Given the description of an element on the screen output the (x, y) to click on. 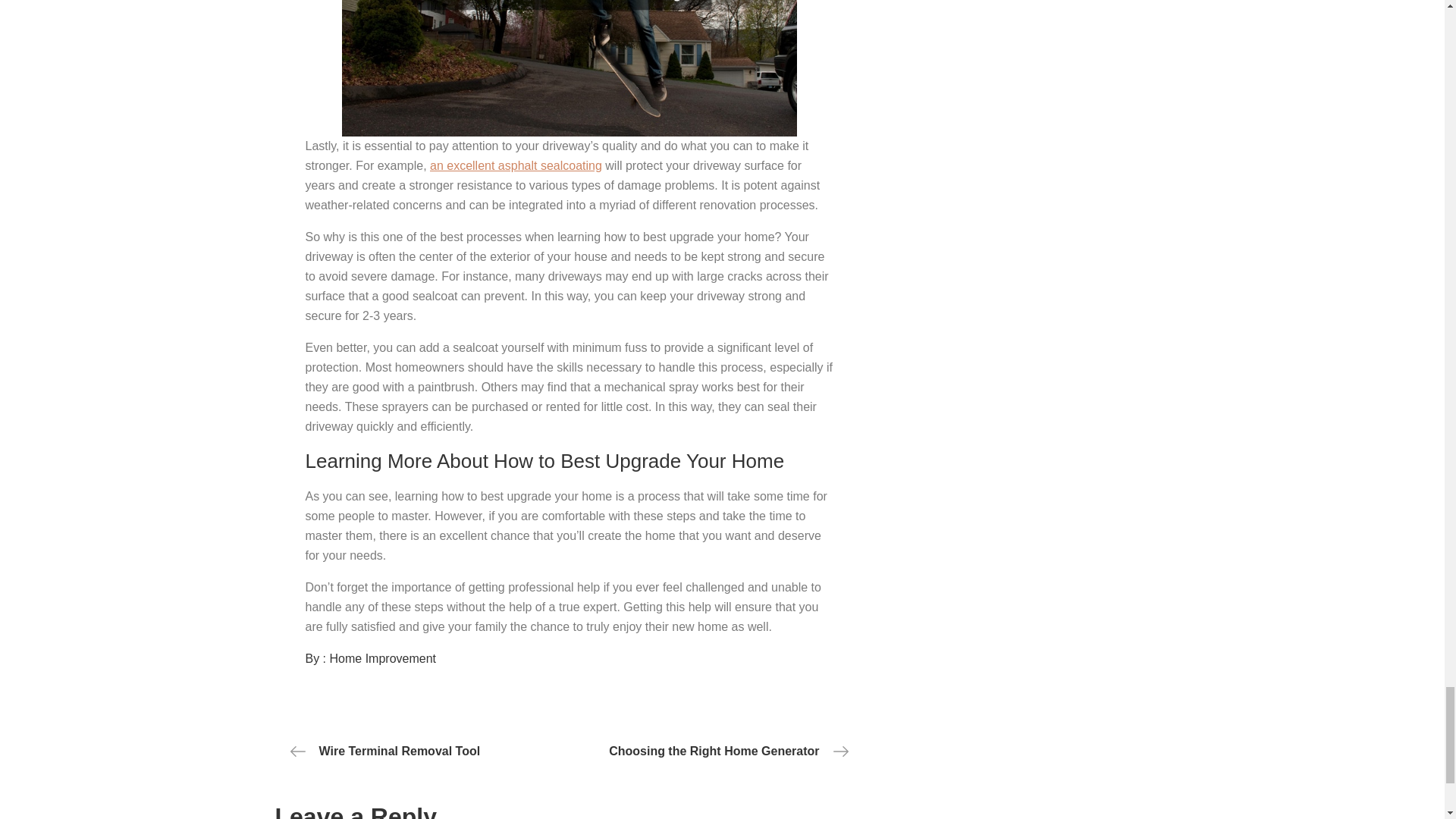
an excellent asphalt sealcoating (515, 164)
Home Improvement (383, 658)
